Given the description of an element on the screen output the (x, y) to click on. 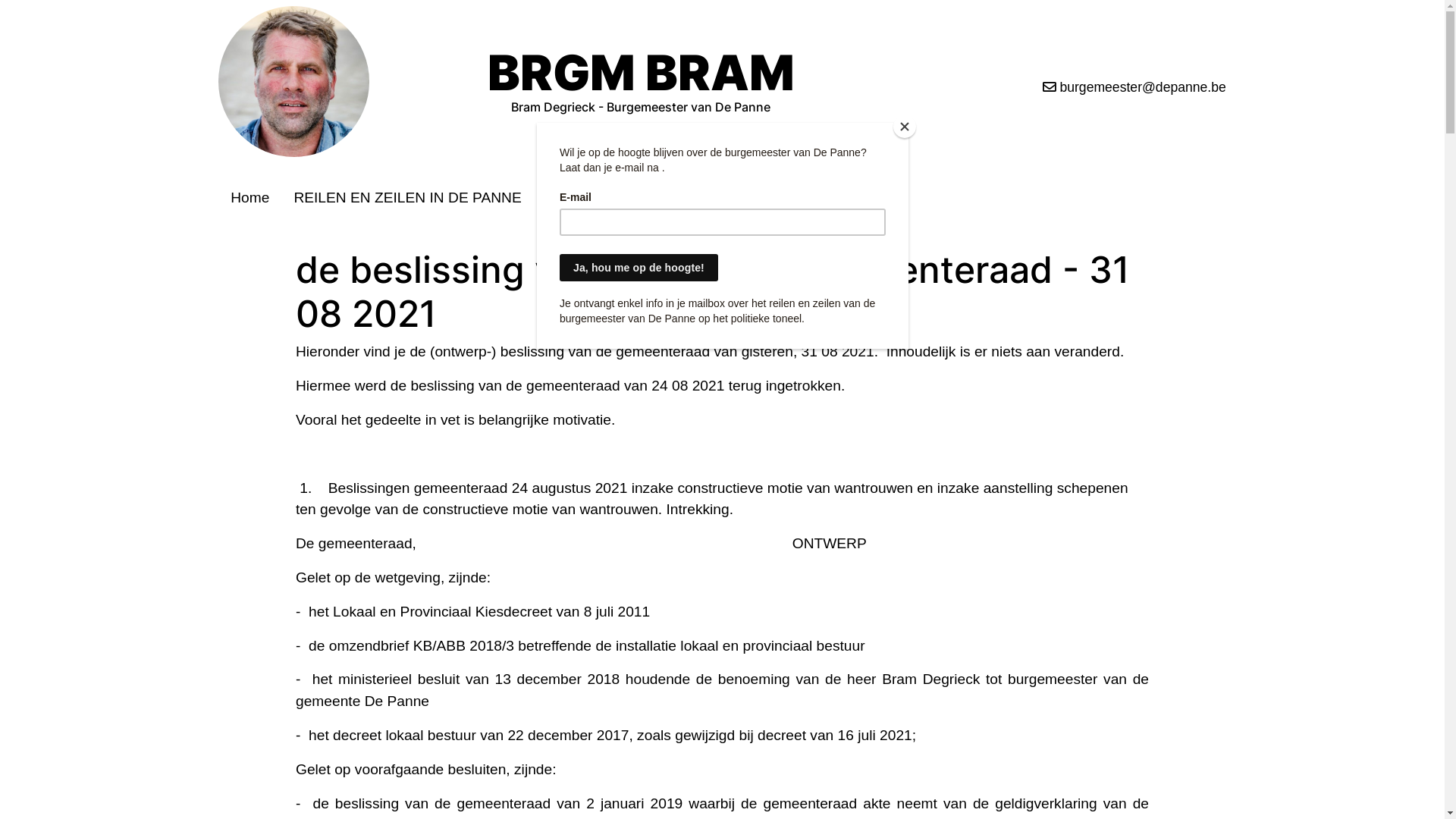
Home Element type: text (249, 197)
BESLUITEN CBS Element type: text (677, 197)
burgemeester@depanne.be Element type: text (1075, 87)
BRAM? Element type: text (570, 197)
REILEN EN ZEILEN IN DE PANNE Element type: text (407, 197)
